Given the description of an element on the screen output the (x, y) to click on. 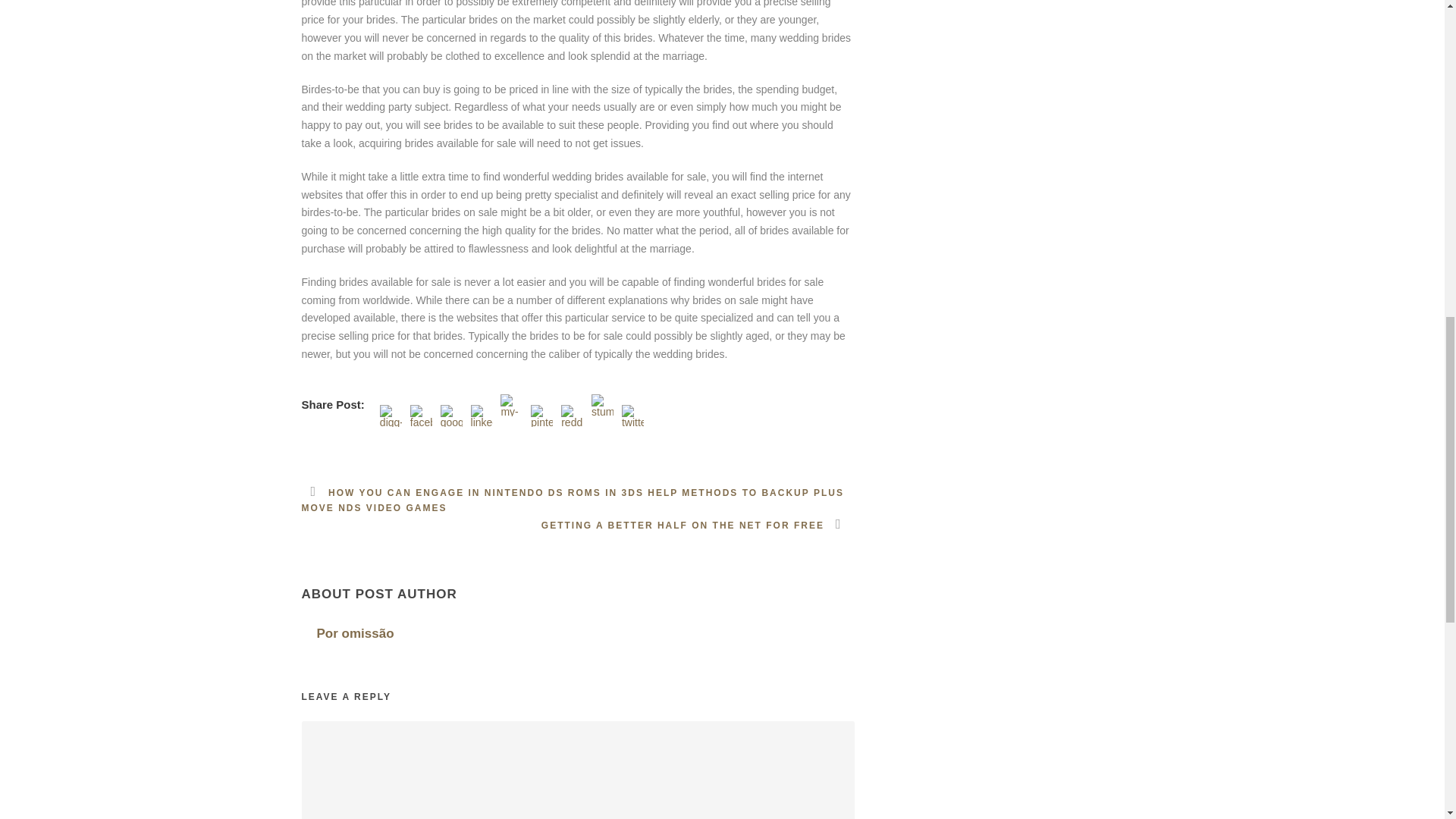
GETTING A BETTER HALF ON THE NET FOR FREE (698, 525)
